Given the description of an element on the screen output the (x, y) to click on. 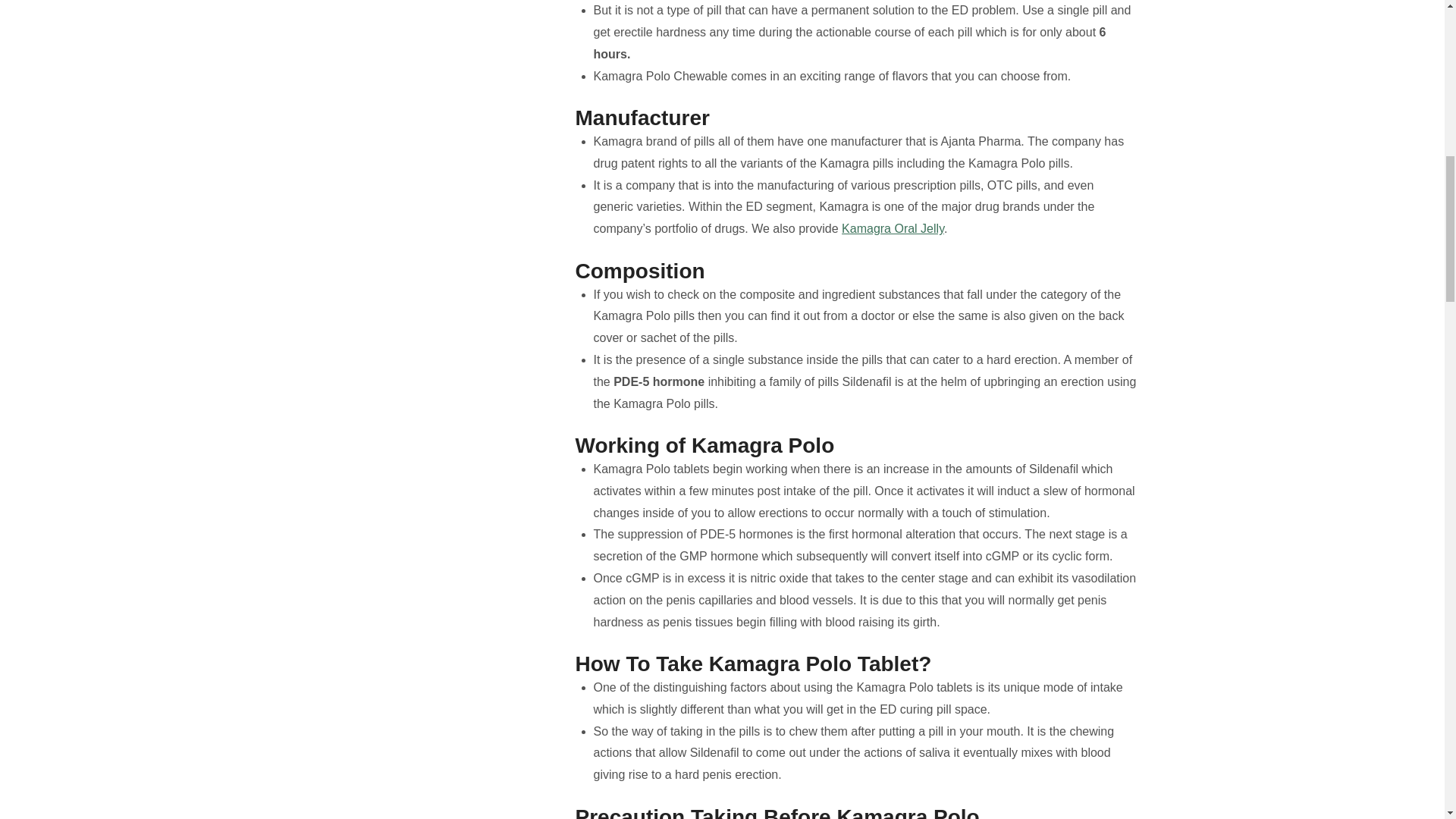
Kamagra Oral Jelly (892, 228)
